Given the description of an element on the screen output the (x, y) to click on. 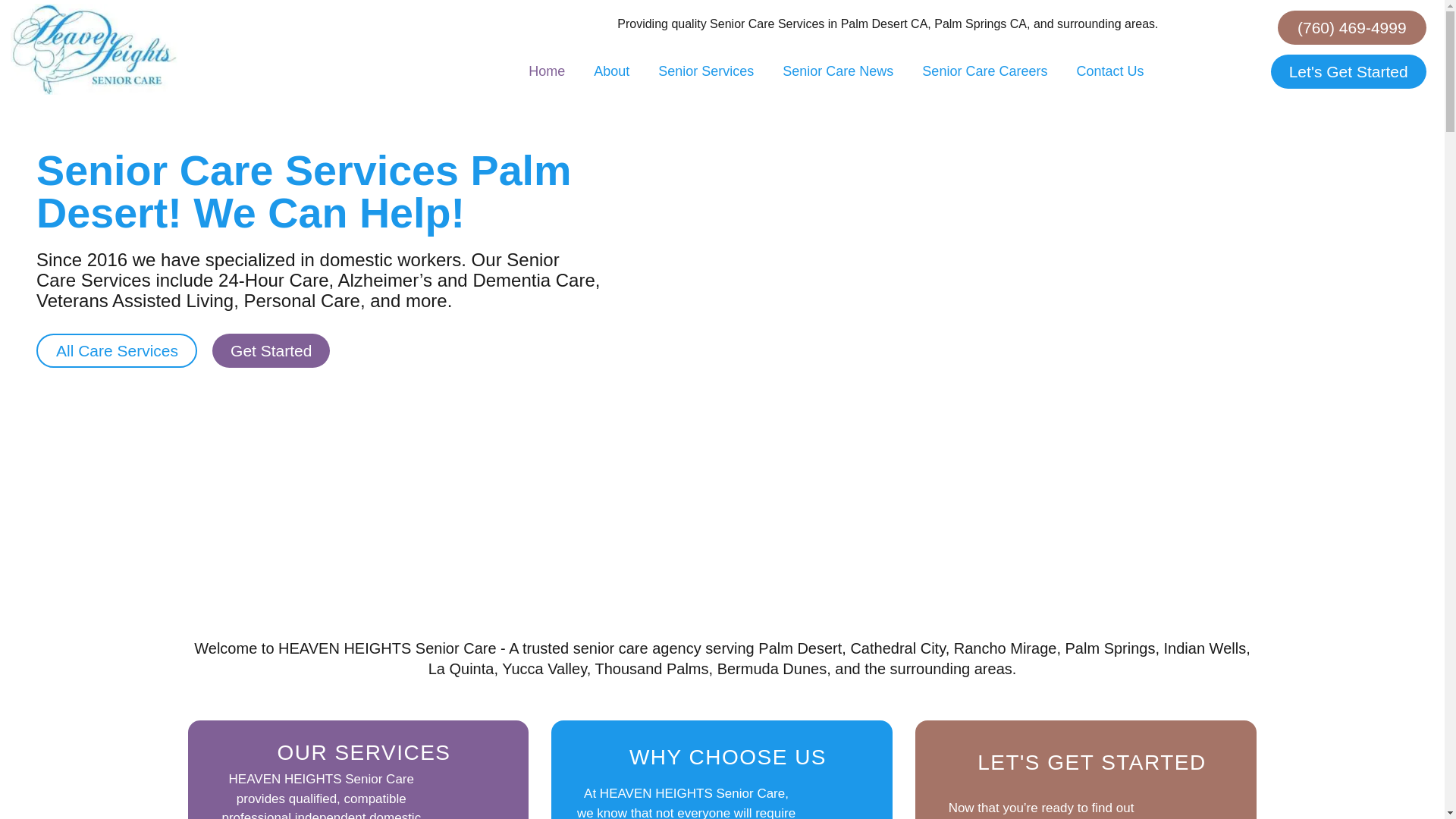
Contact Us (1109, 70)
Senior Care Careers (984, 70)
About (611, 70)
Senior Care News (837, 70)
Get Started (271, 350)
Let's Get Started (1348, 71)
Senior Services (705, 70)
All Care Services (116, 350)
Home (546, 70)
